Given the description of an element on the screen output the (x, y) to click on. 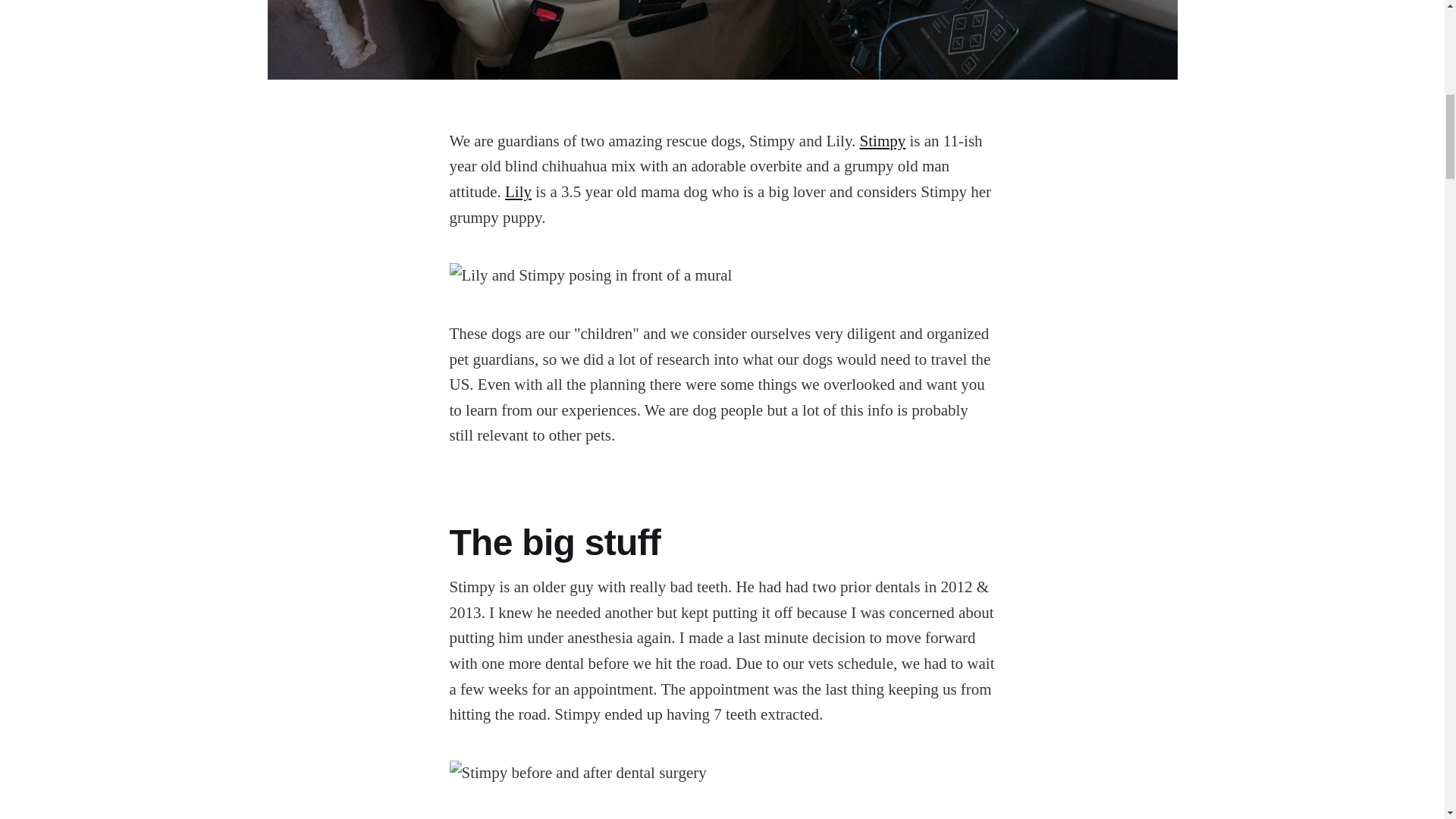
Lily (518, 191)
Stimpy (882, 140)
